Given the description of an element on the screen output the (x, y) to click on. 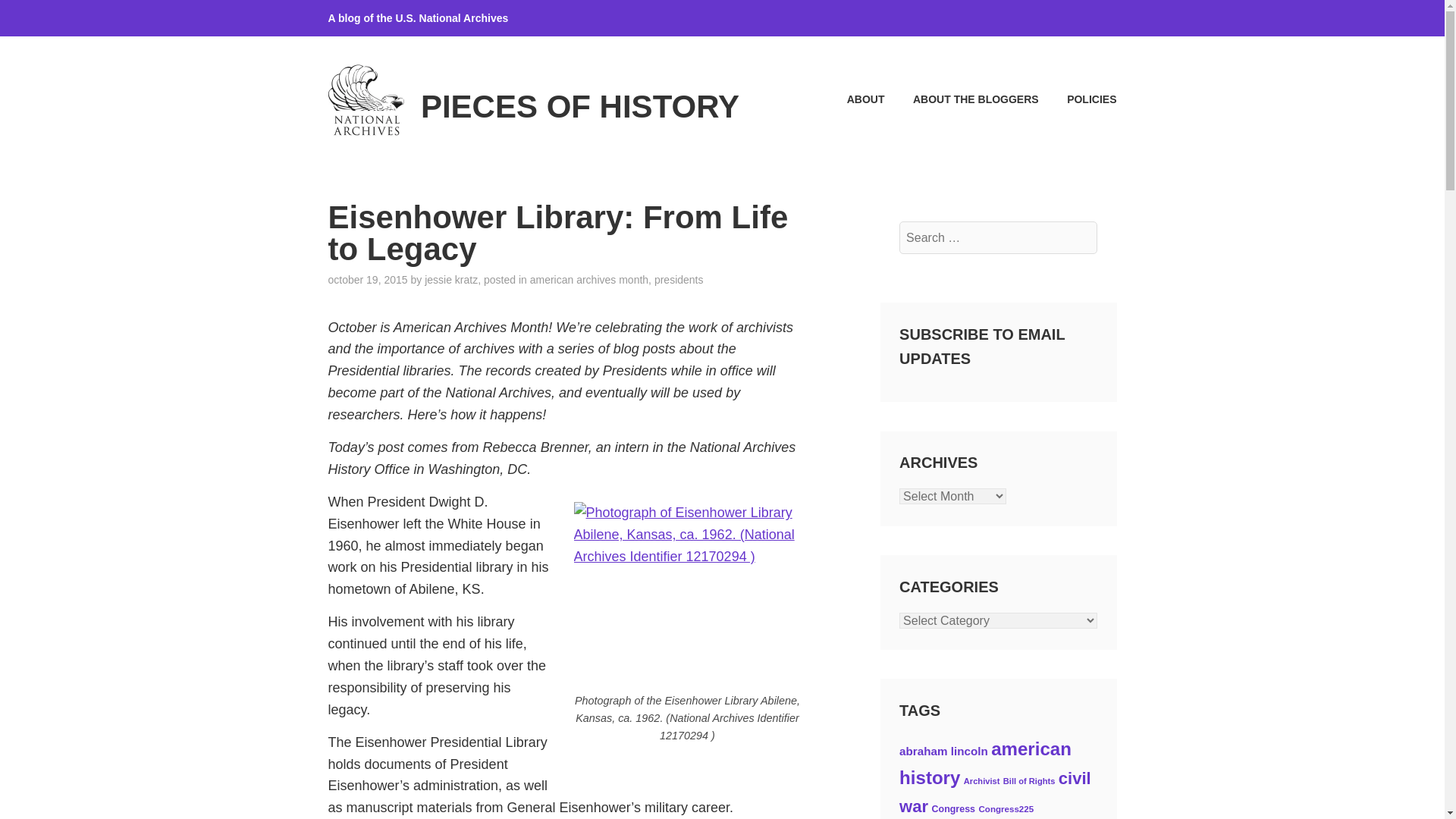
Congress225 (1005, 809)
abraham lincoln (943, 750)
october 19, 2015 (367, 279)
Bill of Rights (1029, 780)
jessie kratz (451, 279)
Search (48, 17)
PIECES OF HISTORY (579, 106)
Congress (953, 808)
american archives month (588, 279)
presidents (678, 279)
ABOUT (852, 99)
ABOUT THE BLOGGERS (962, 99)
Archivist (981, 780)
POLICIES (1079, 99)
civil war (994, 792)
